Given the description of an element on the screen output the (x, y) to click on. 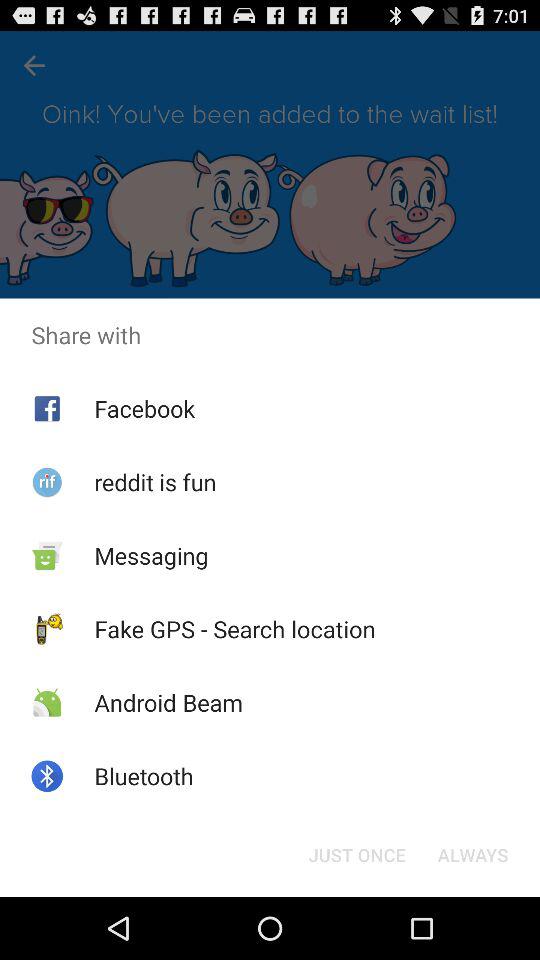
turn off item above android beam item (234, 629)
